Given the description of an element on the screen output the (x, y) to click on. 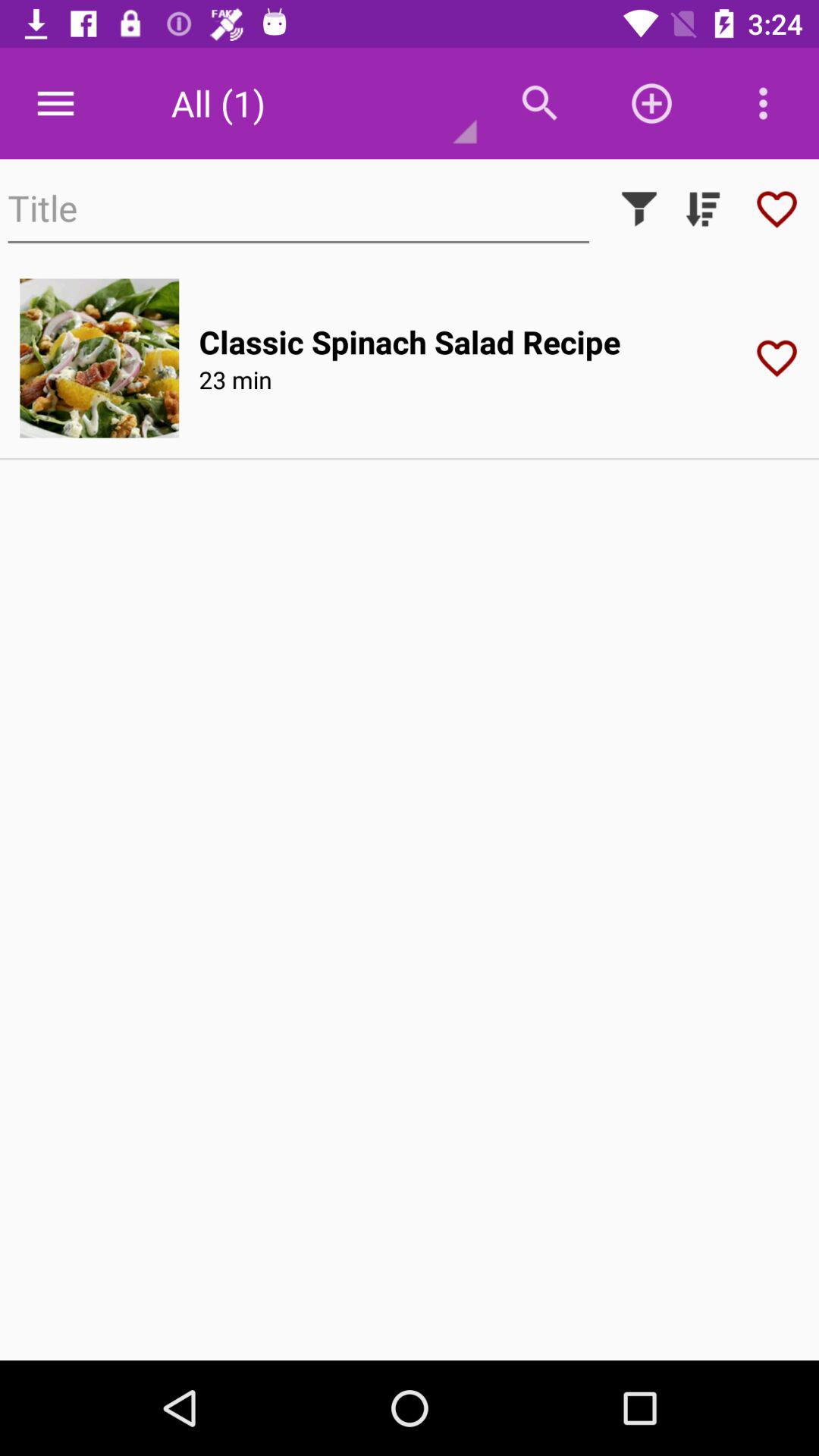
get the slad (99, 357)
